Given the description of an element on the screen output the (x, y) to click on. 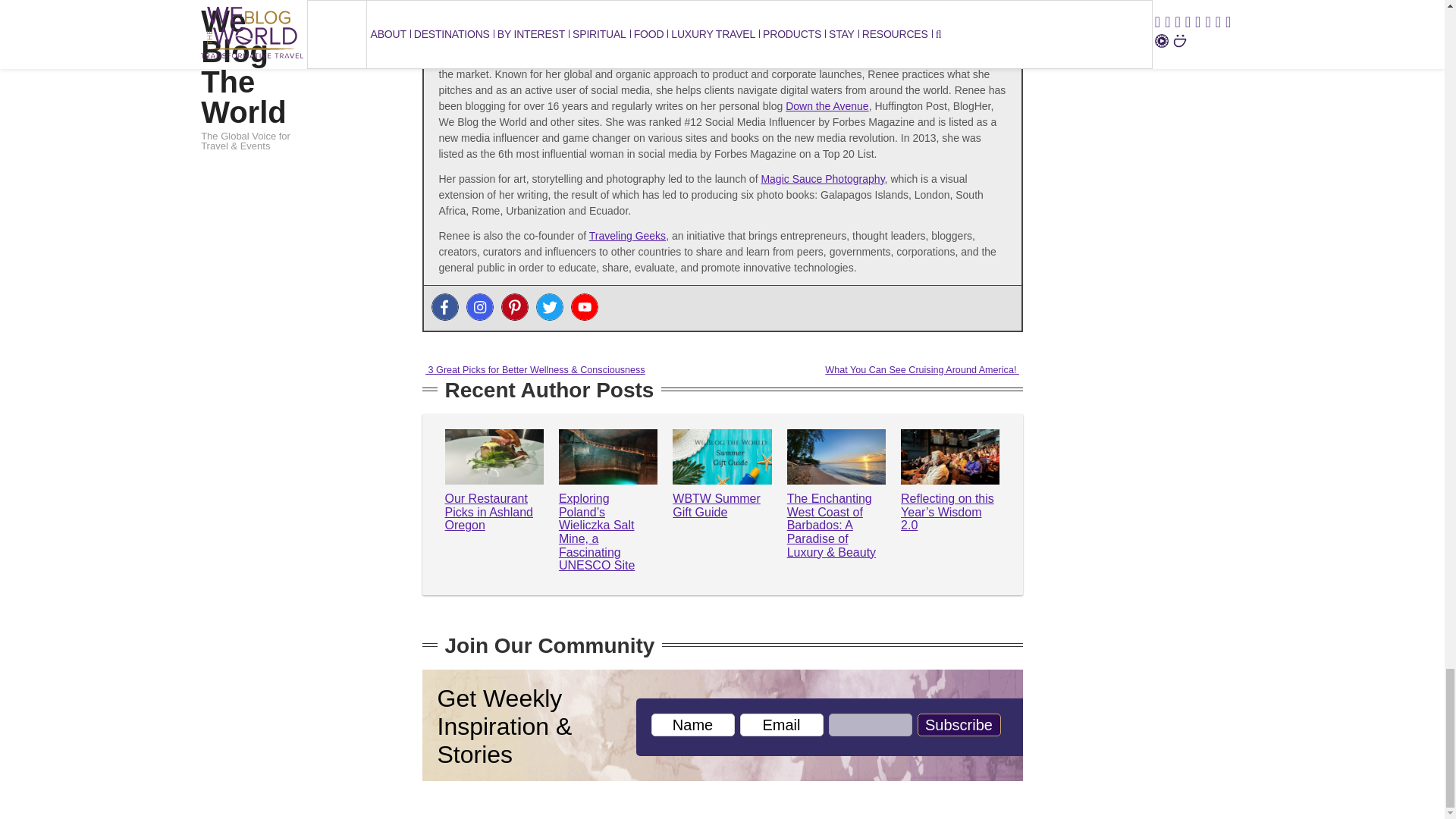
Name (691, 724)
Facebook (444, 307)
Instagram (479, 307)
Twitter (548, 307)
Youtube (583, 307)
Subscribe (959, 724)
Pinterest (513, 307)
Email (781, 724)
